Given the description of an element on the screen output the (x, y) to click on. 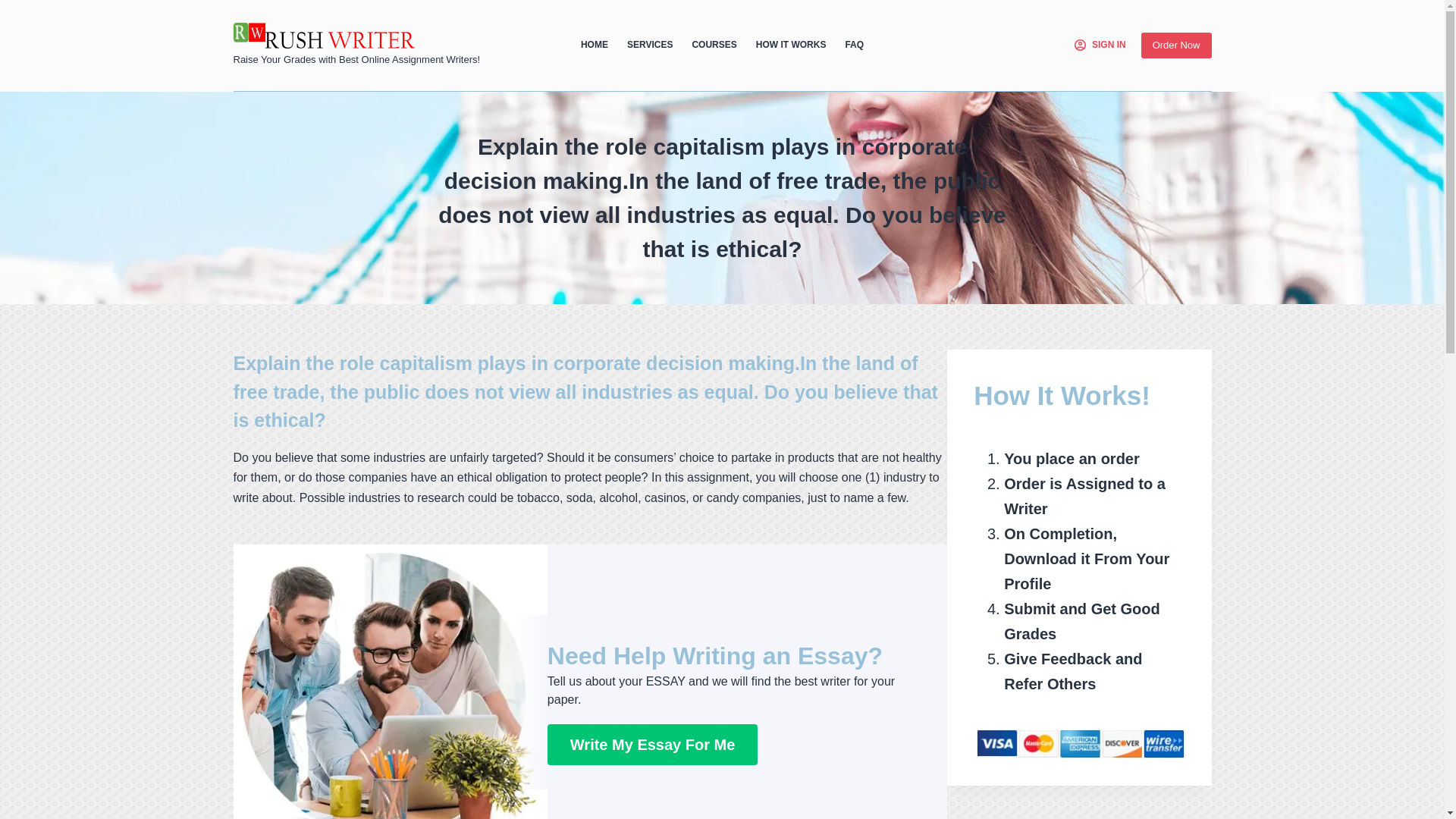
Write My Essay For Me (652, 743)
Order Now (1176, 45)
SIGN IN (1099, 45)
HOW IT WORKS (790, 45)
Skip to content (15, 7)
